Given the description of an element on the screen output the (x, y) to click on. 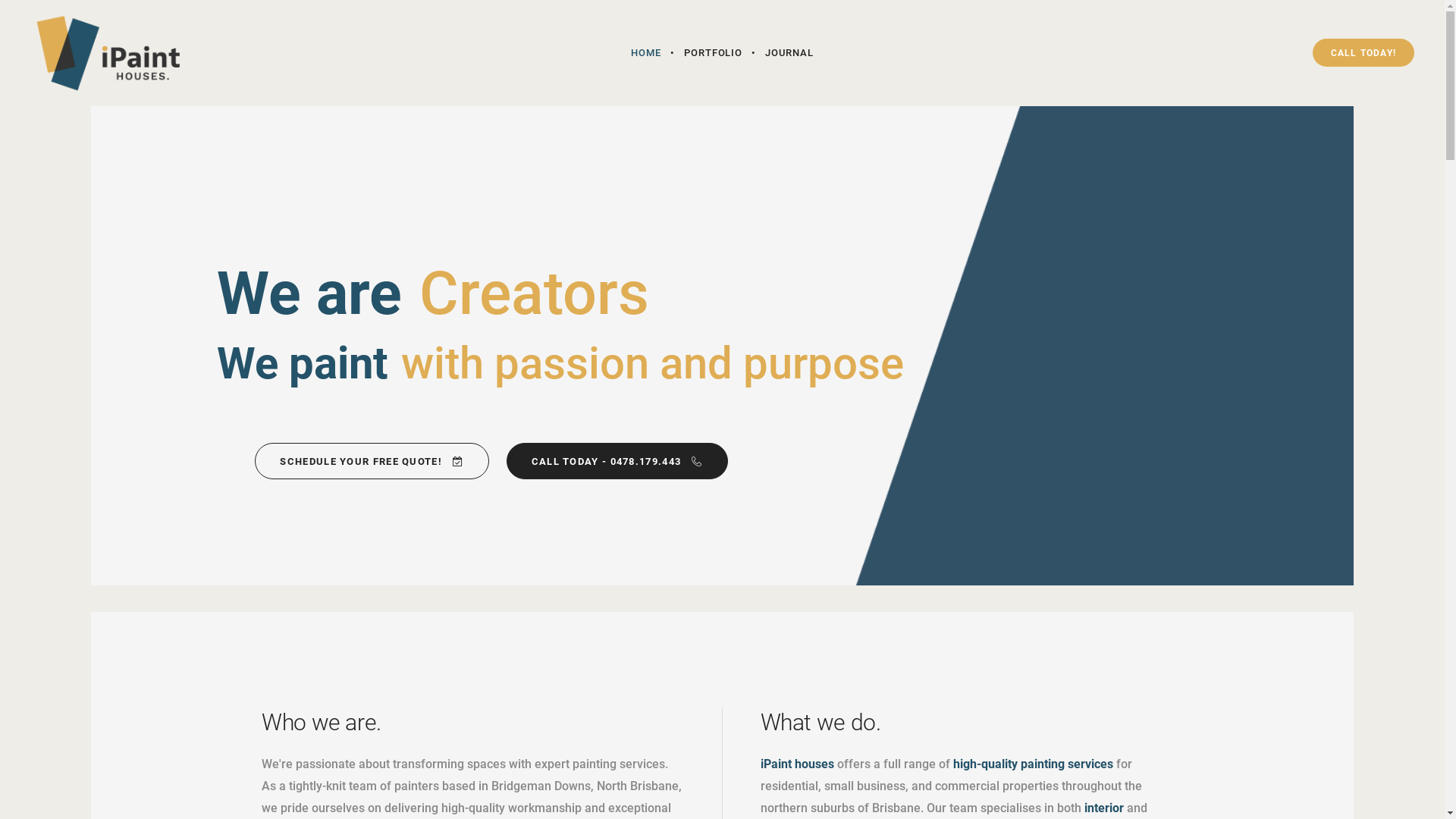
PORTFOLIO Element type: text (713, 53)
SCHEDULE YOUR FREE QUOTE! Element type: text (371, 460)
HOME Element type: text (645, 53)
JOURNAL Element type: text (789, 53)
CALL TODAY! Element type: text (1363, 52)
CALL TODAY - 0478.179.443 Element type: text (617, 460)
